Given the description of an element on the screen output the (x, y) to click on. 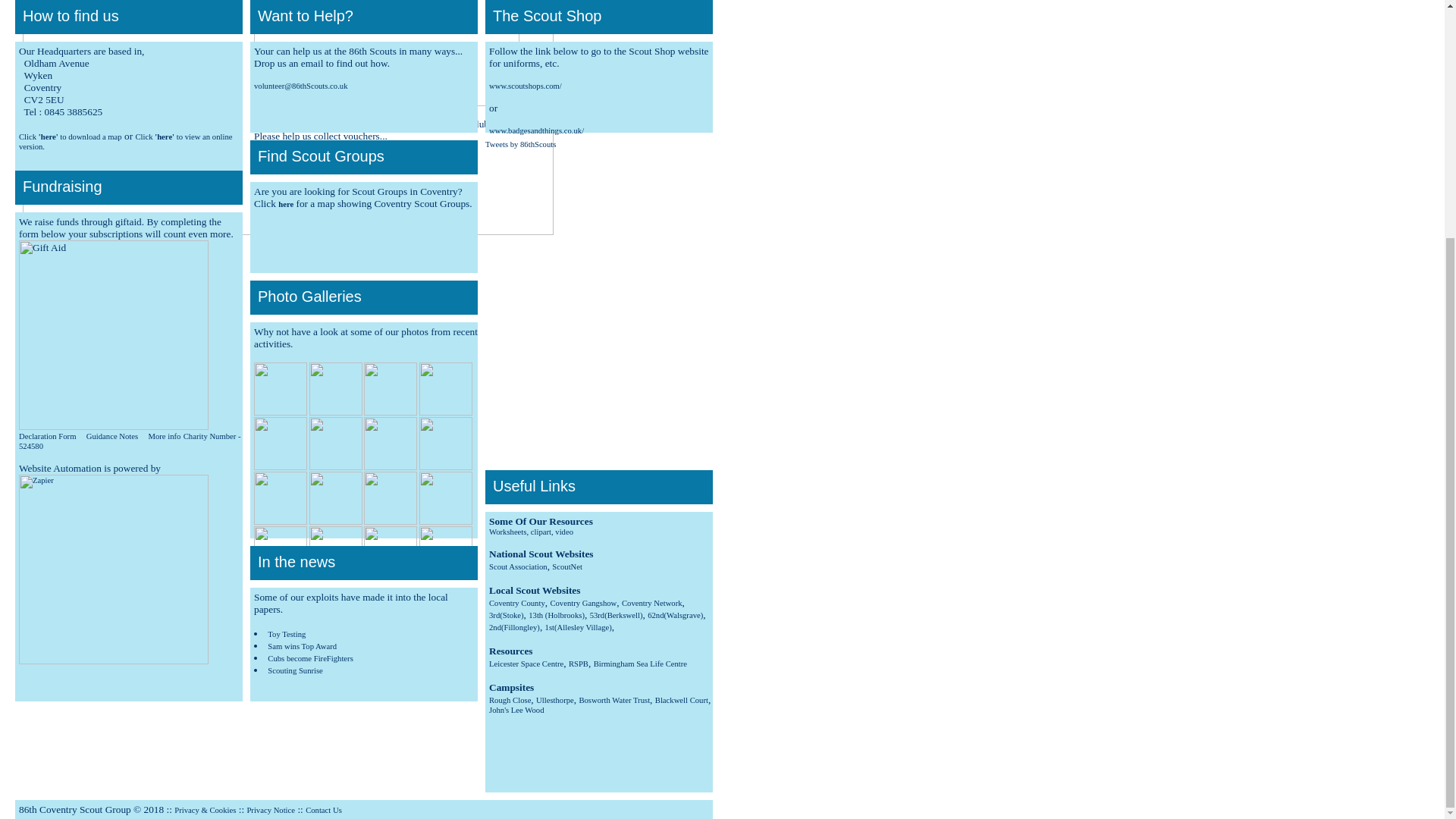
Rough Close (510, 700)
More info (164, 436)
Coventry County (516, 602)
Birmingham Sea Life Centre (640, 664)
Click 'here' to view an online version. (124, 141)
Scout Association (518, 566)
Leicester Space Centre (526, 664)
Blackwell Court (681, 700)
Coventry Network (651, 602)
Guidance Notes (111, 436)
Coventry Gangshow (582, 602)
RSPB (578, 664)
Ullesthorpe (554, 700)
Worksheets, clipart, video (531, 531)
Bosworth Water Trust (613, 700)
